Given the description of an element on the screen output the (x, y) to click on. 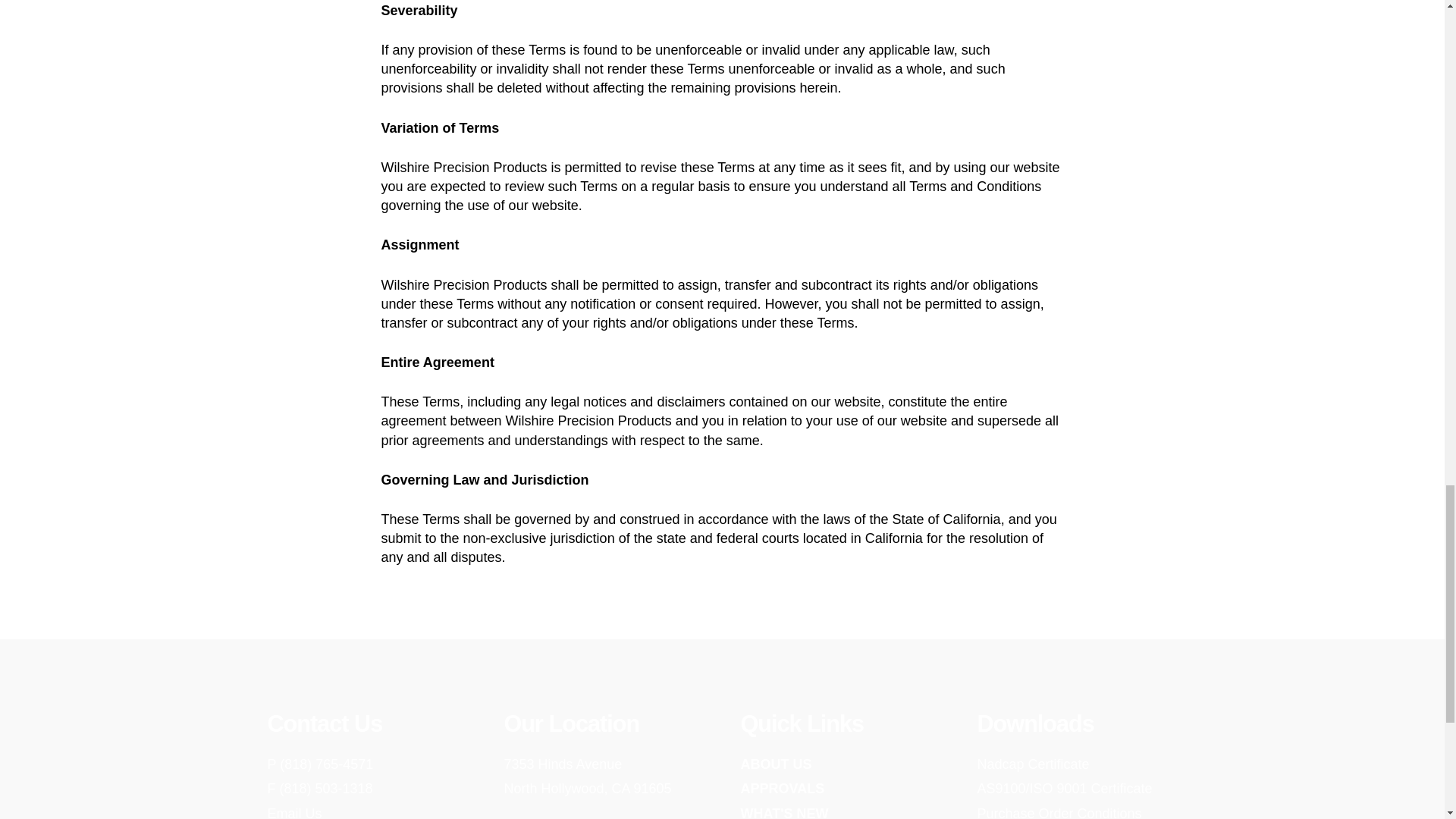
Email Us (293, 812)
Purchase Order Conditions (1058, 812)
Nadcap Certificate (1032, 764)
ABOUT US (774, 764)
APPROVALS (781, 788)
WHAT'S NEW (587, 776)
